Given the description of an element on the screen output the (x, y) to click on. 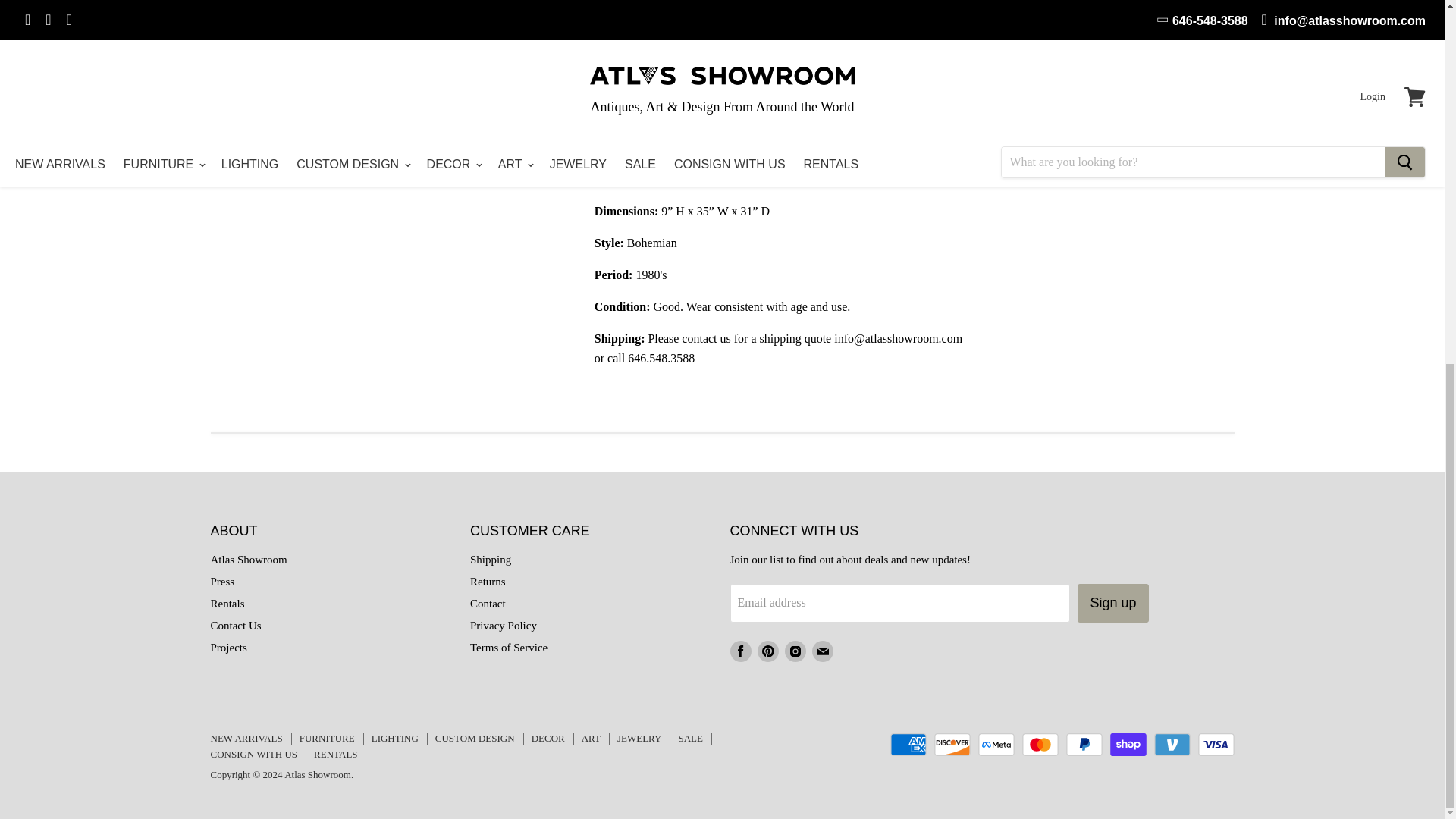
American Express (907, 744)
Meta Pay (996, 744)
Discover (952, 744)
